Given the description of an element on the screen output the (x, y) to click on. 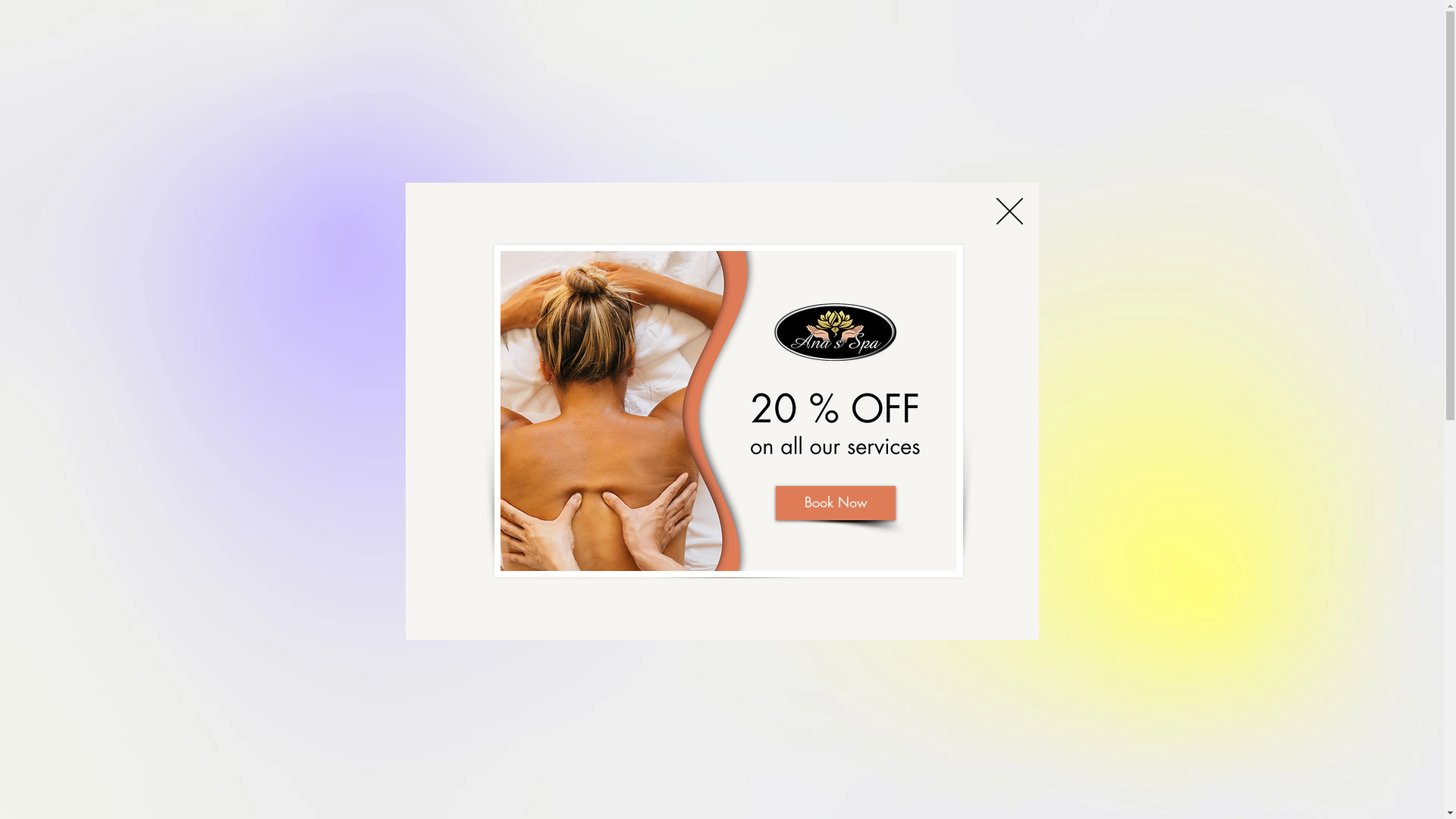
Back to site Element type: hover (1009, 210)
Book Now Element type: text (721, 490)
Ana's Spa Massage & Beauty Therapy Element type: hover (241, 50)
Contact Us Element type: text (1225, 51)
Brisbane CBD Element type: text (781, 397)
Treatments Element type: text (997, 51)
Home Element type: text (928, 51)
Specials Element type: text (1073, 51)
About Us Element type: text (1146, 51)
Book Now Element type: text (835, 502)
